Given the description of an element on the screen output the (x, y) to click on. 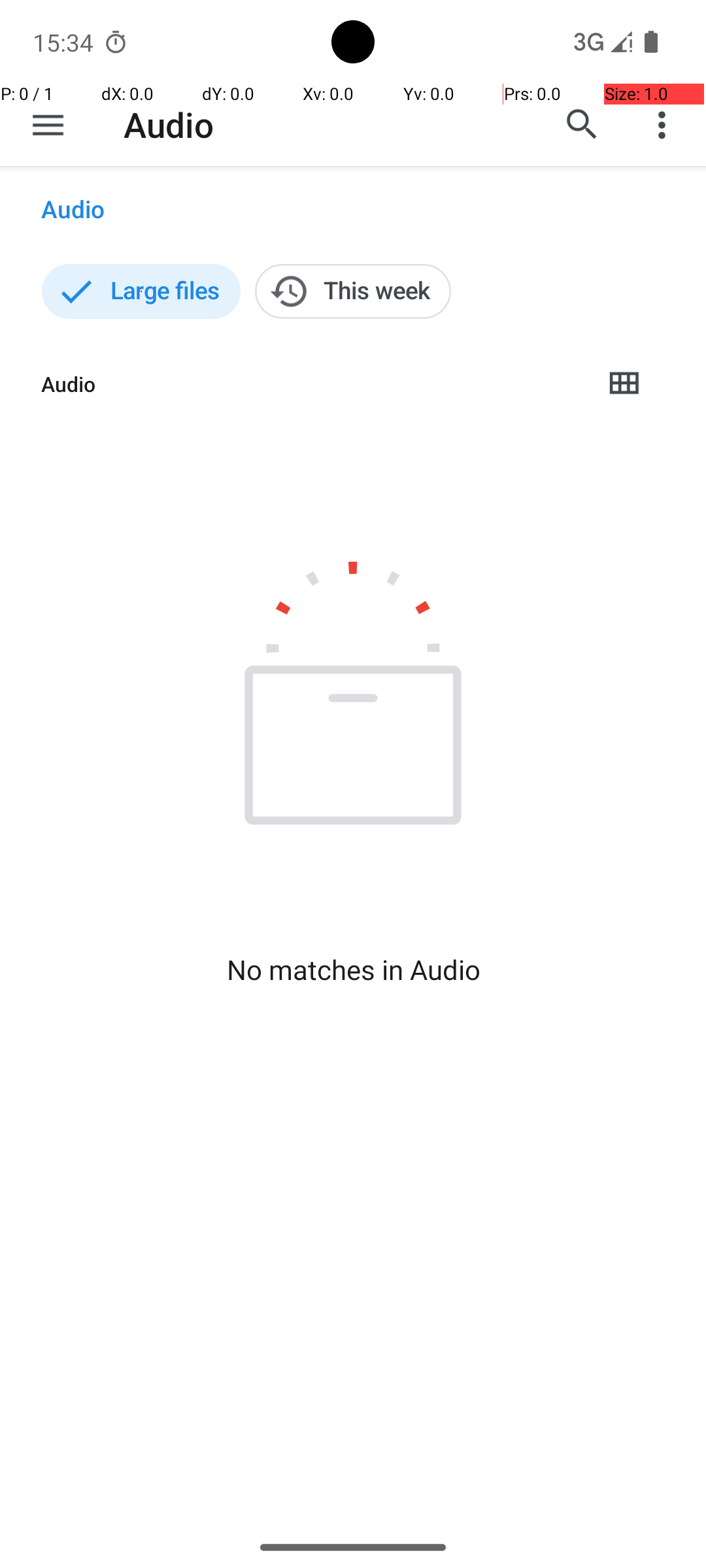
No matches in Audio Element type: android.widget.TextView (353, 968)
